Given the description of an element on the screen output the (x, y) to click on. 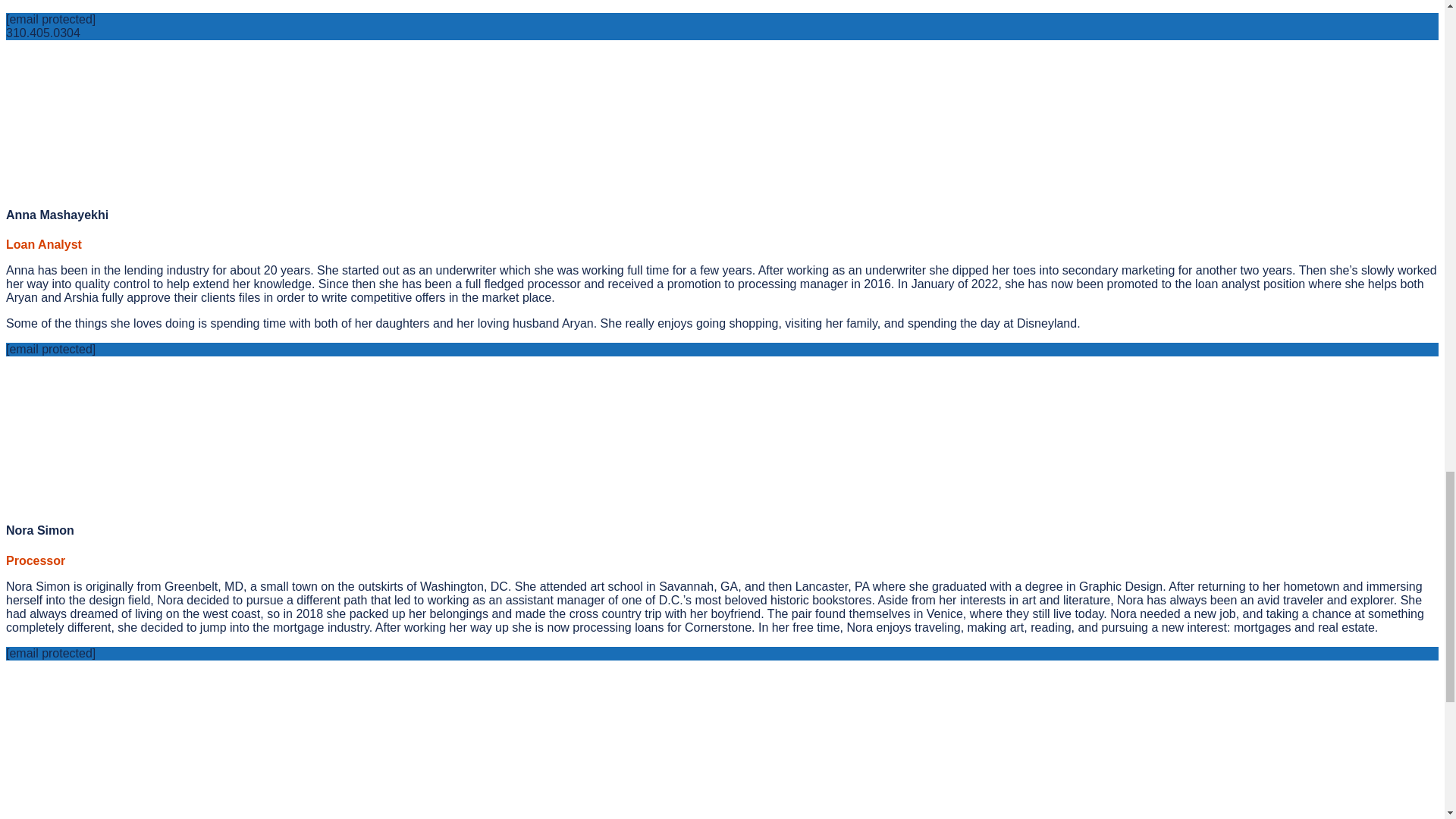
310.405.0304 (42, 32)
